Given the description of an element on the screen output the (x, y) to click on. 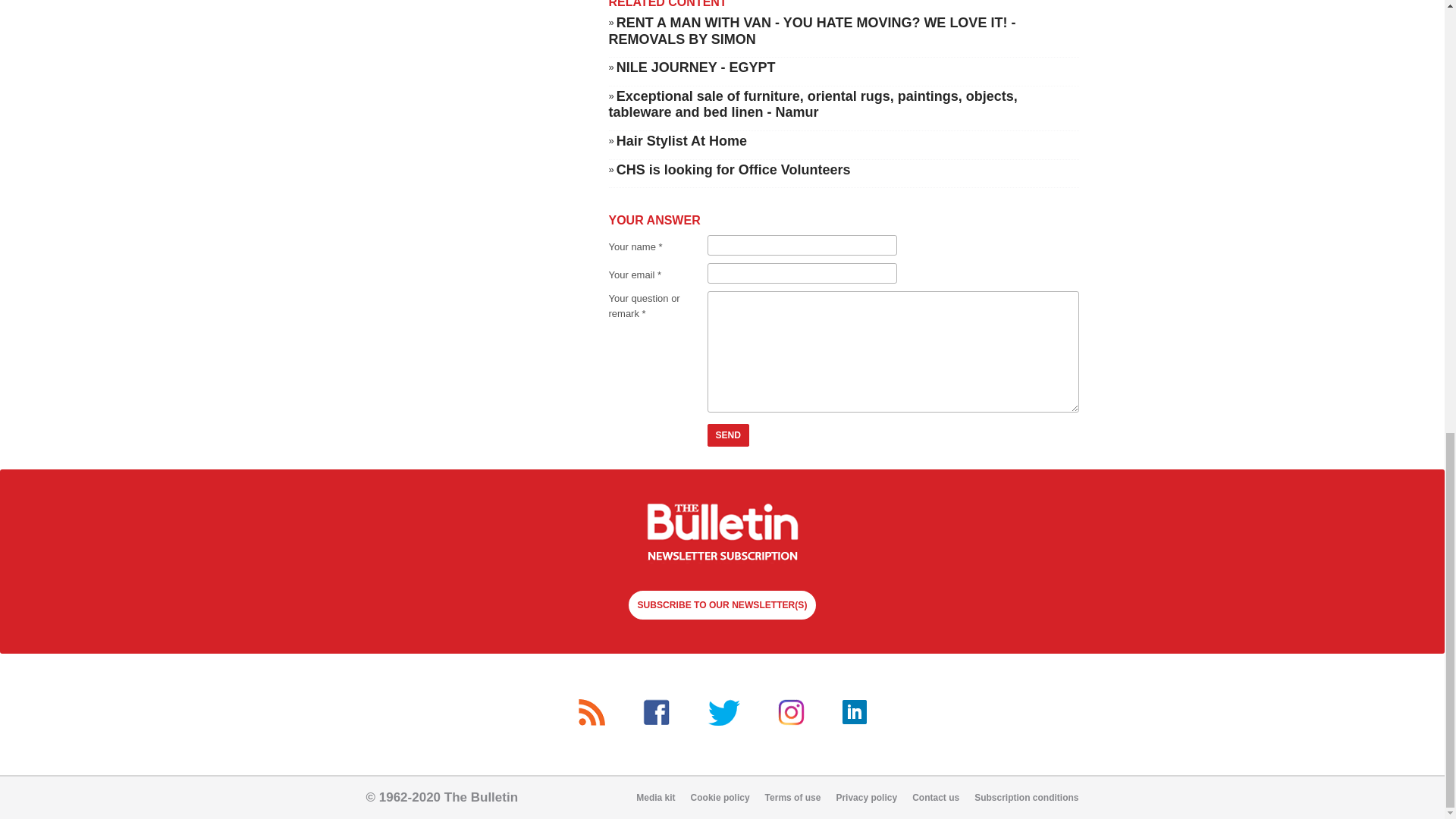
Send (727, 435)
NILE JOURNEY - EGYPT (695, 67)
Hair Stylist At Home (680, 140)
Send (727, 435)
Subscribe now (721, 533)
CHS is looking for Office Volunteers (732, 169)
